Given the description of an element on the screen output the (x, y) to click on. 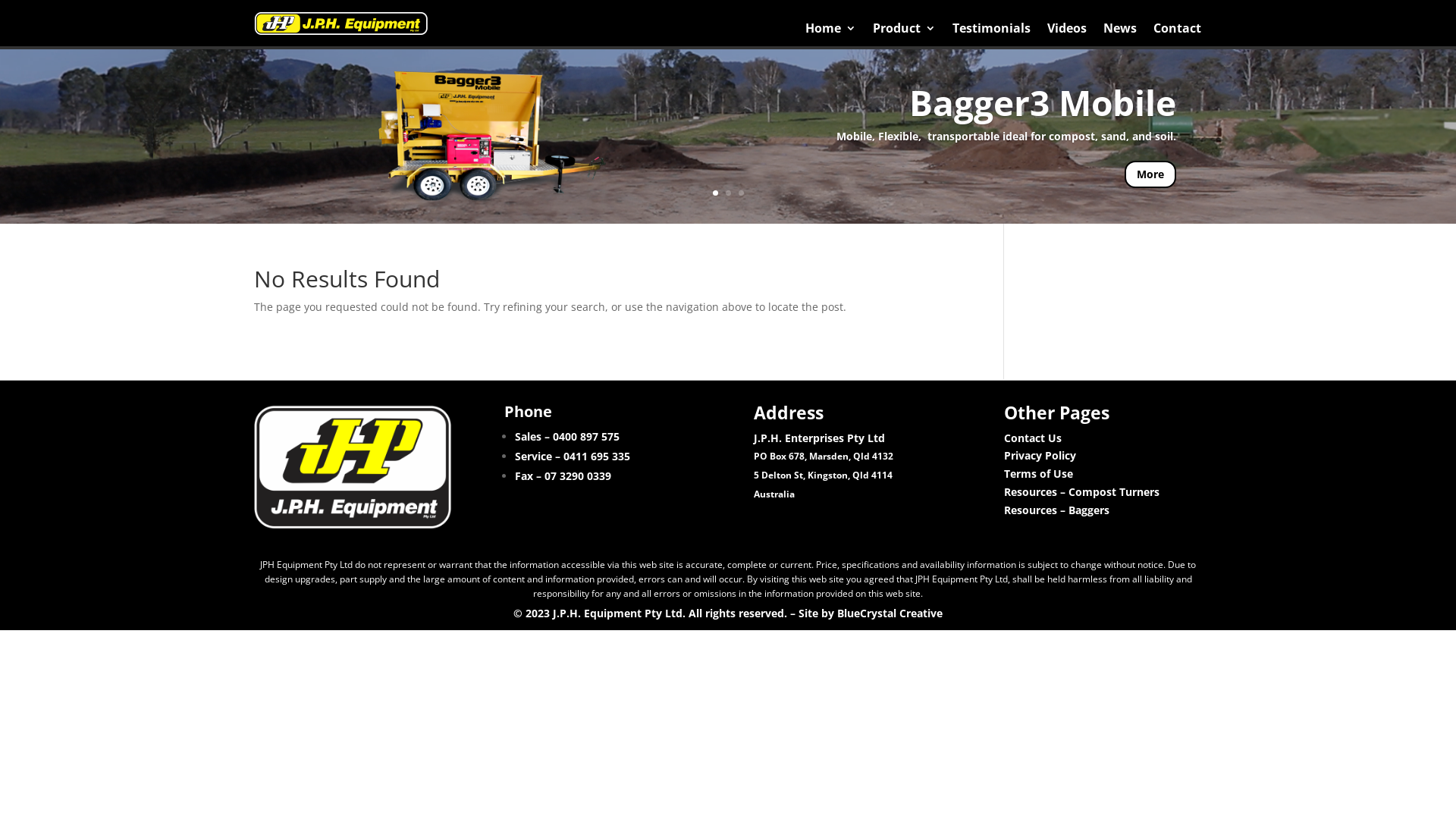
Bagger3 Mobile Element type: text (1042, 101)
JPH-Logo-JPH-Equipment Element type: hover (340, 23)
Product Element type: text (903, 31)
More Element type: text (1150, 174)
News Element type: text (1119, 31)
Terms of Use Element type: text (1038, 473)
2 Element type: text (727, 192)
Privacy Policy Element type: text (1040, 455)
Home Element type: text (830, 31)
Contact Element type: text (1177, 31)
Videos Element type: text (1066, 31)
1 Element type: text (715, 192)
3 Element type: text (740, 192)
BlueCrystal Creative Element type: text (889, 612)
Contact Us Element type: text (1032, 437)
Testimonials Element type: text (991, 31)
